Given the description of an element on the screen output the (x, y) to click on. 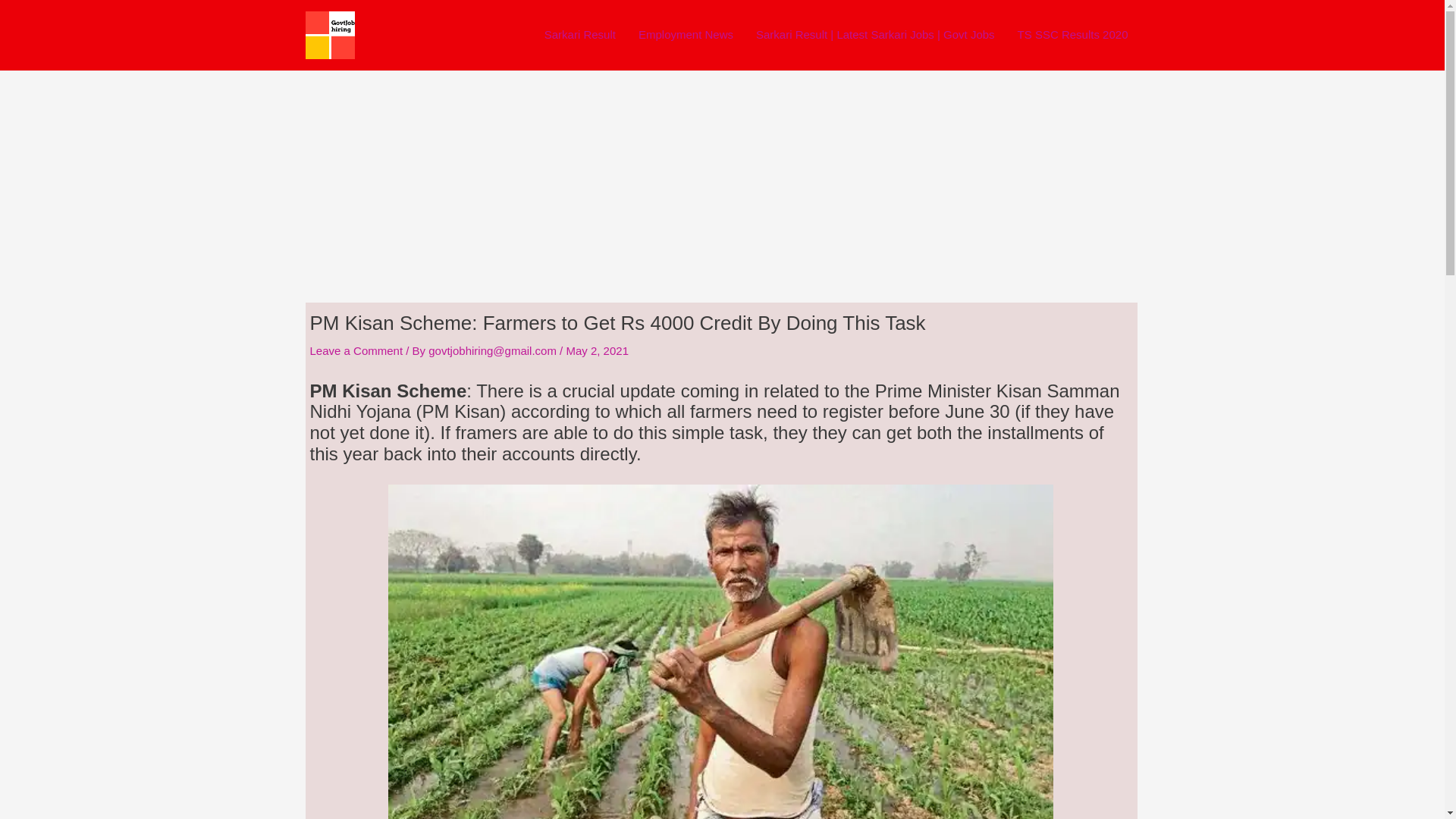
TS SSC Results 2020 (1073, 34)
Leave a Comment (355, 350)
Sarkari Result (579, 34)
Employment News (685, 34)
